Given the description of an element on the screen output the (x, y) to click on. 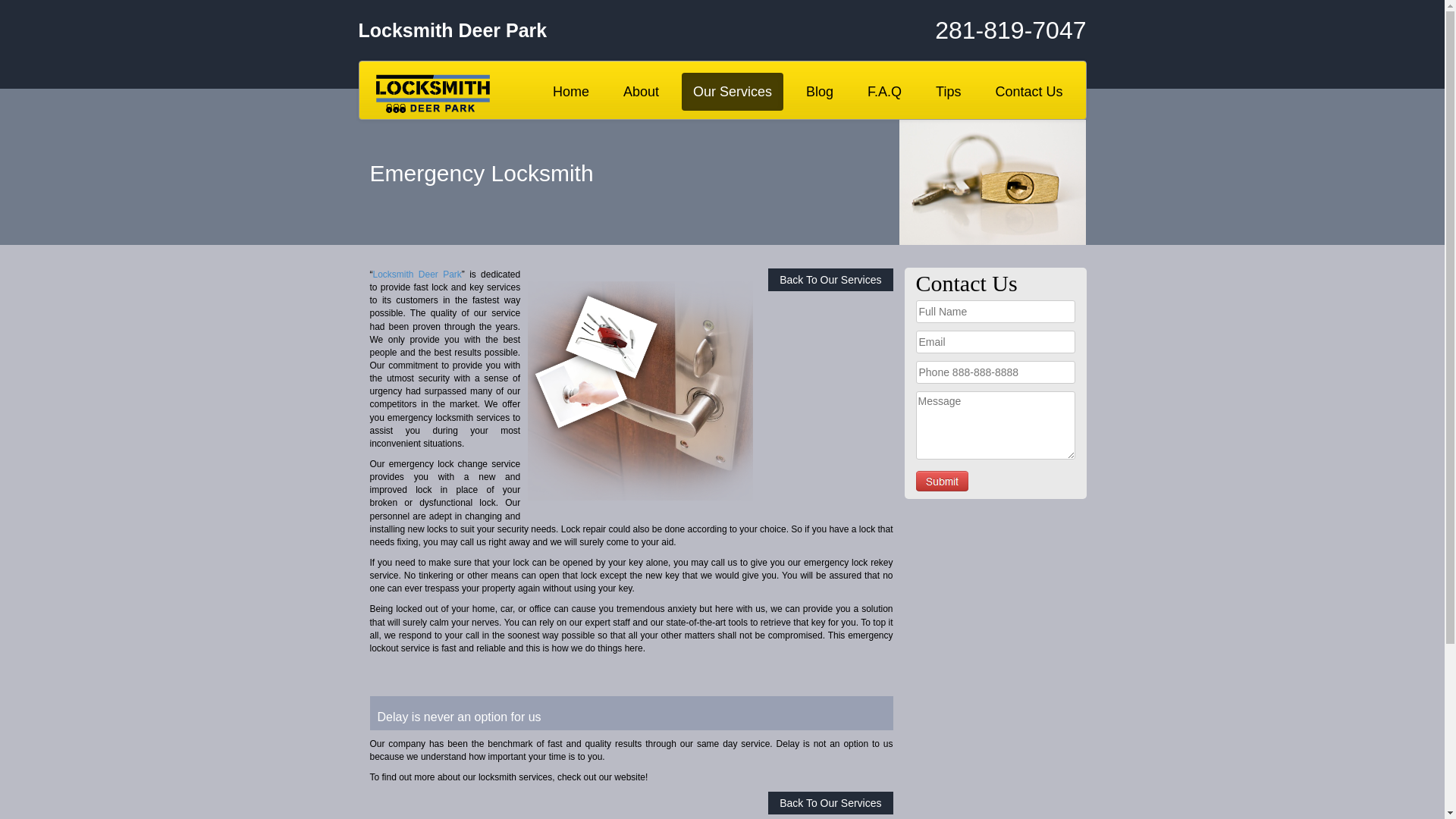
281-819-7047 Element type: text (964, 30)
F.A.Q Element type: text (884, 91)
Back To Our Services Element type: text (830, 279)
Our Services Element type: text (732, 91)
About Element type: text (640, 91)
Back To Our Services Element type: text (830, 802)
  Element type: text (942, 480)
Contact Us Element type: text (1028, 91)
Blog Element type: text (819, 91)
Emergency Locksmith in Deer Park Element type: hover (640, 389)
Tips Element type: text (948, 91)
Locksmith Deer Park Element type: text (417, 274)
Home Element type: text (570, 91)
